Given the description of an element on the screen output the (x, y) to click on. 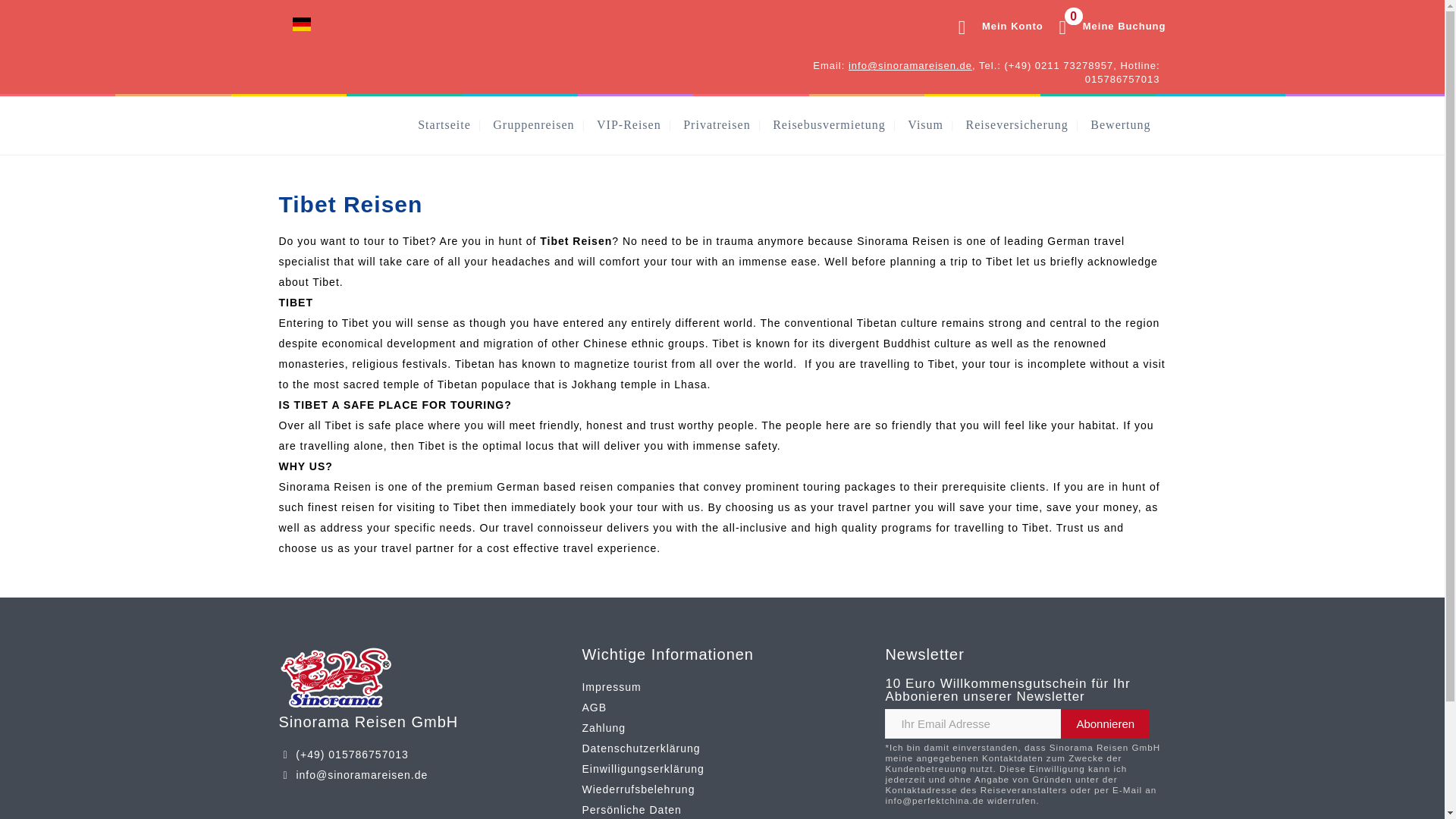
Tibet Reisen (575, 241)
Startseite (443, 124)
Impressum (610, 686)
Zahlung (603, 727)
Mein Konto (992, 25)
Visum (925, 124)
Wiederrufsbelehrung (637, 788)
Reisebusvermietung (829, 124)
Privatreisen (715, 124)
Gruppenreisen (533, 124)
Bewertung (1104, 25)
AGB (1120, 124)
Abonnieren (593, 707)
VIP-Reisen (1105, 723)
